Given the description of an element on the screen output the (x, y) to click on. 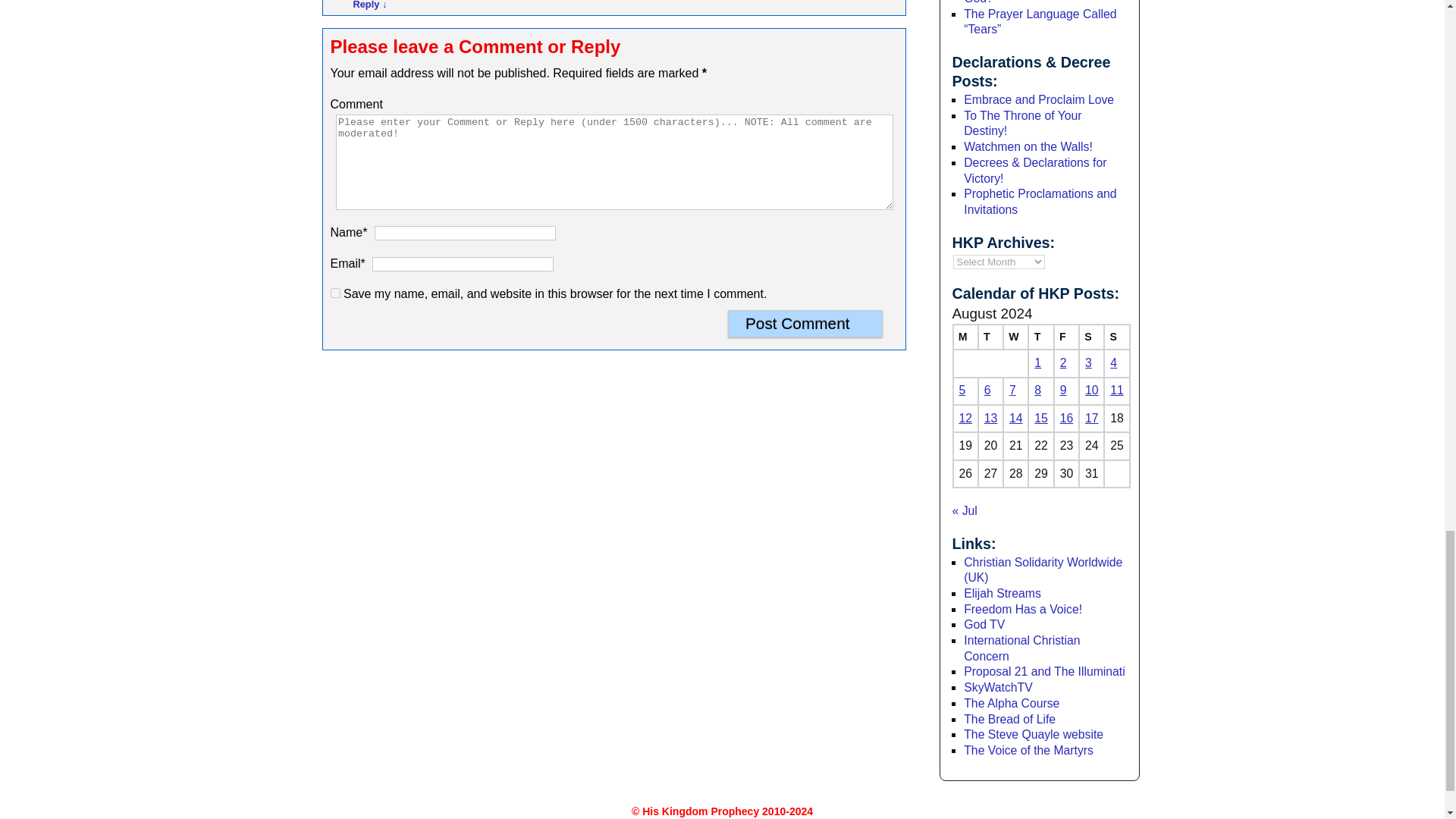
Post Comment (805, 323)
Saturday (1090, 336)
Wednesday (1015, 336)
yes (335, 293)
Friday (1066, 336)
Monday (964, 336)
Tuesday (990, 336)
Thursday (1039, 336)
